Given the description of an element on the screen output the (x, y) to click on. 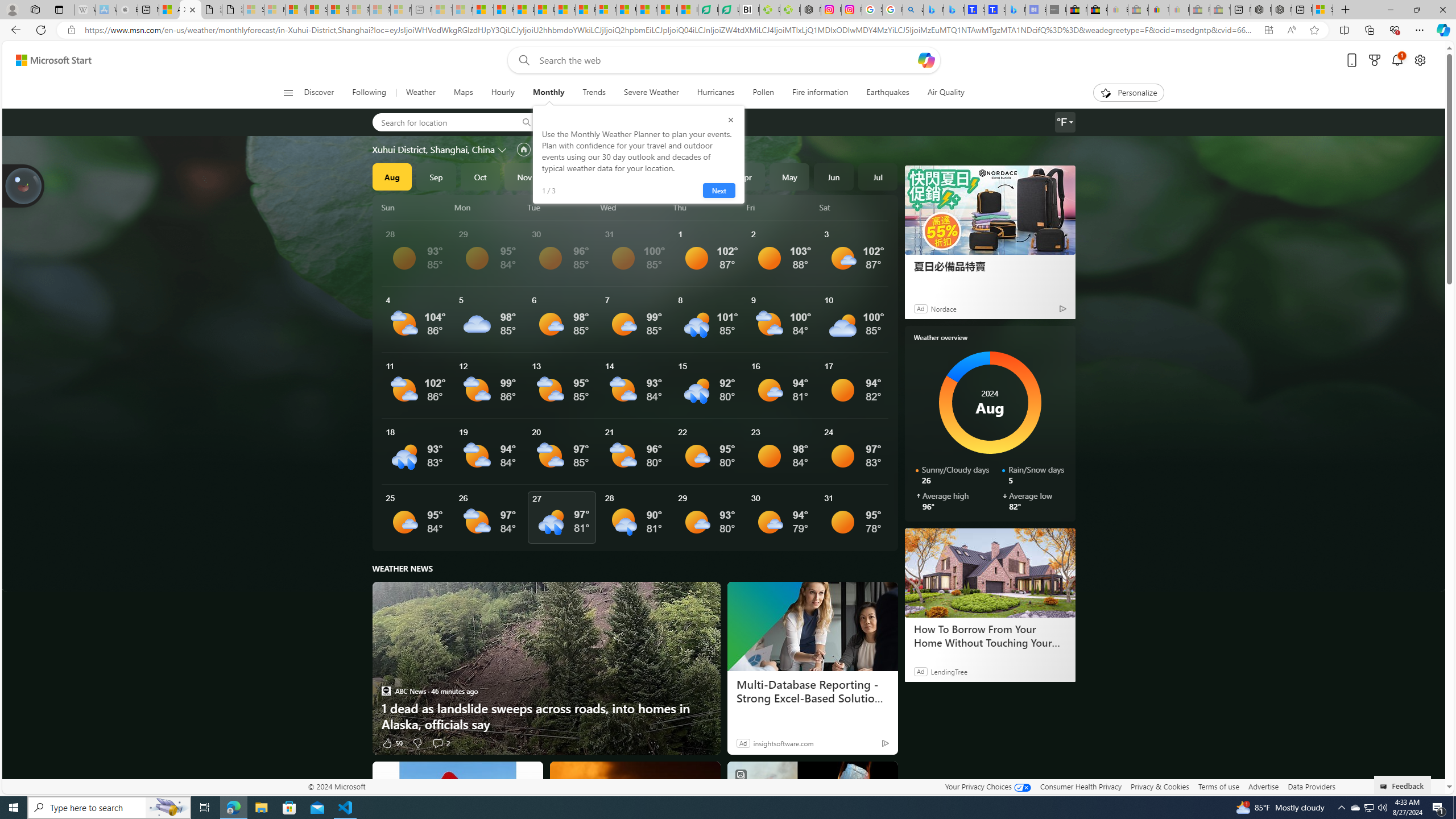
Xuhui District, Shanghai, China (433, 149)
Foo BAR | Trusted Community Engagement and Contributions (584, 9)
Change location (503, 149)
Oct (480, 176)
Jul (877, 176)
Class: feedback_link_icon-DS-EntryPoint1-1 (1384, 786)
Shangri-La Bangkok, Hotel reviews and Room rates (994, 9)
Safety in Our Products - Google Safety Center (871, 9)
